Given the description of an element on the screen output the (x, y) to click on. 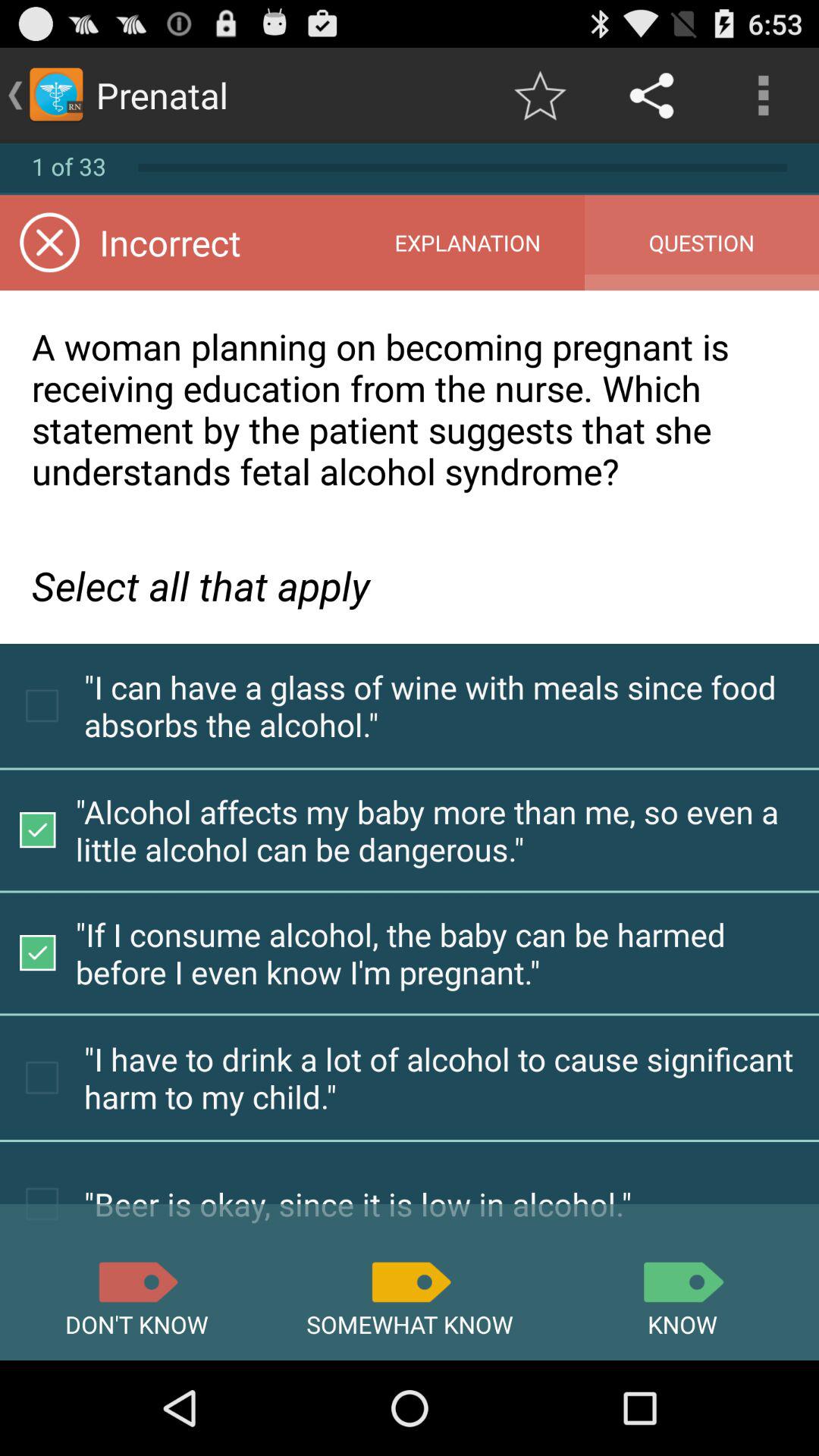
press icon next to question icon (467, 242)
